Given the description of an element on the screen output the (x, y) to click on. 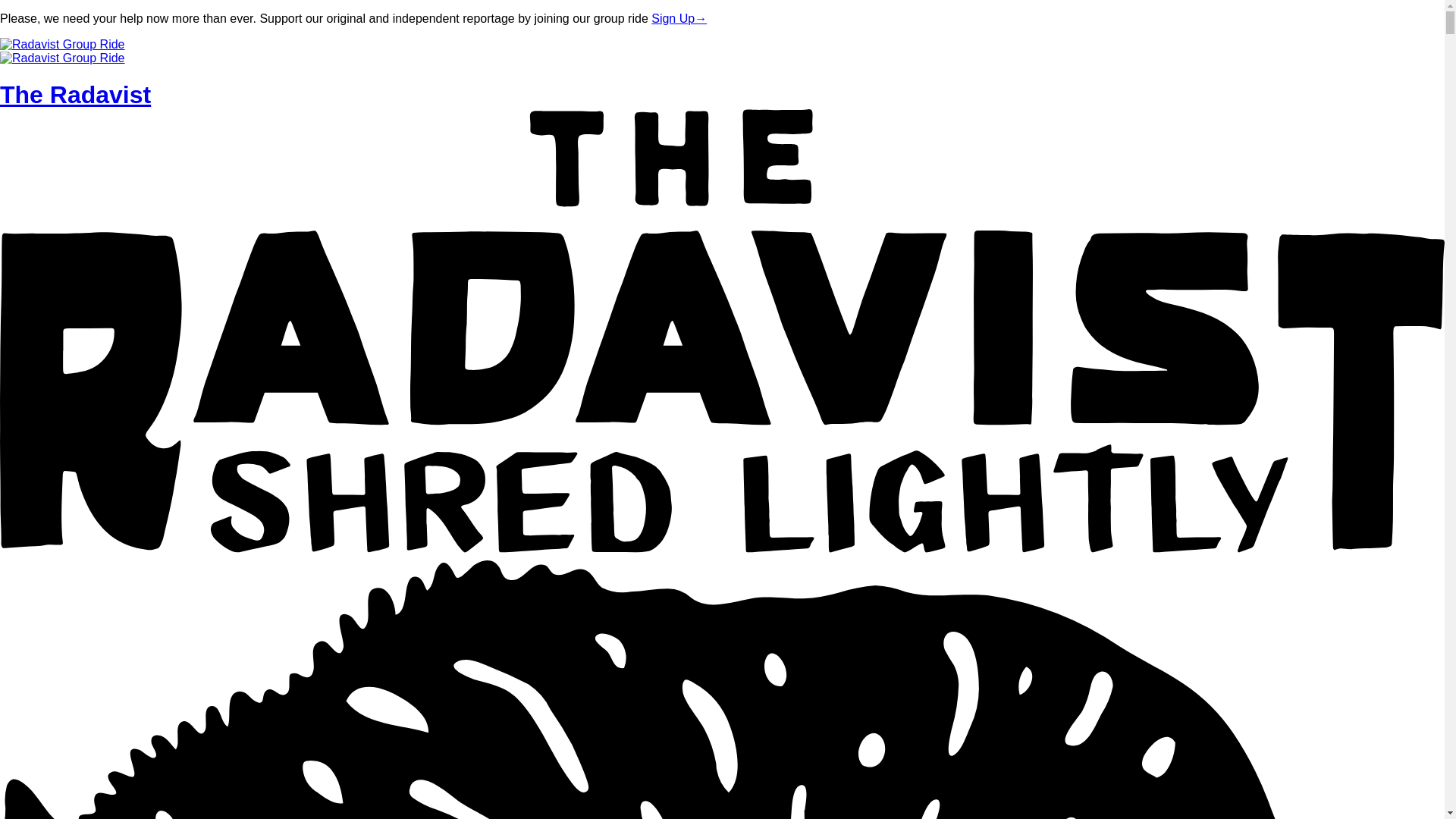
Radavist Group Ride (62, 57)
Radavist Group Ride (62, 43)
